Given the description of an element on the screen output the (x, y) to click on. 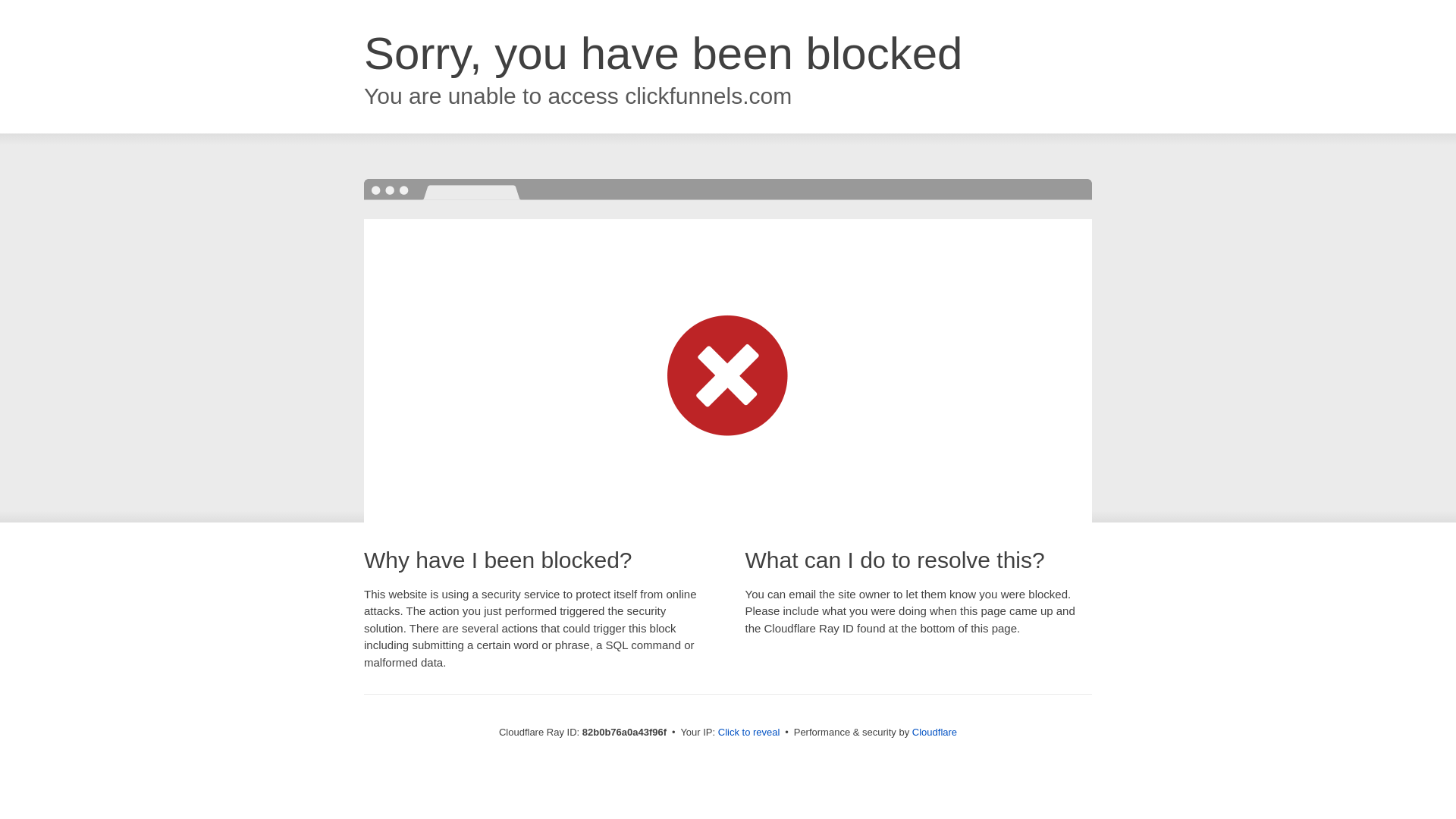
Cloudflare Element type: text (934, 731)
Click to reveal Element type: text (749, 732)
